Given the description of an element on the screen output the (x, y) to click on. 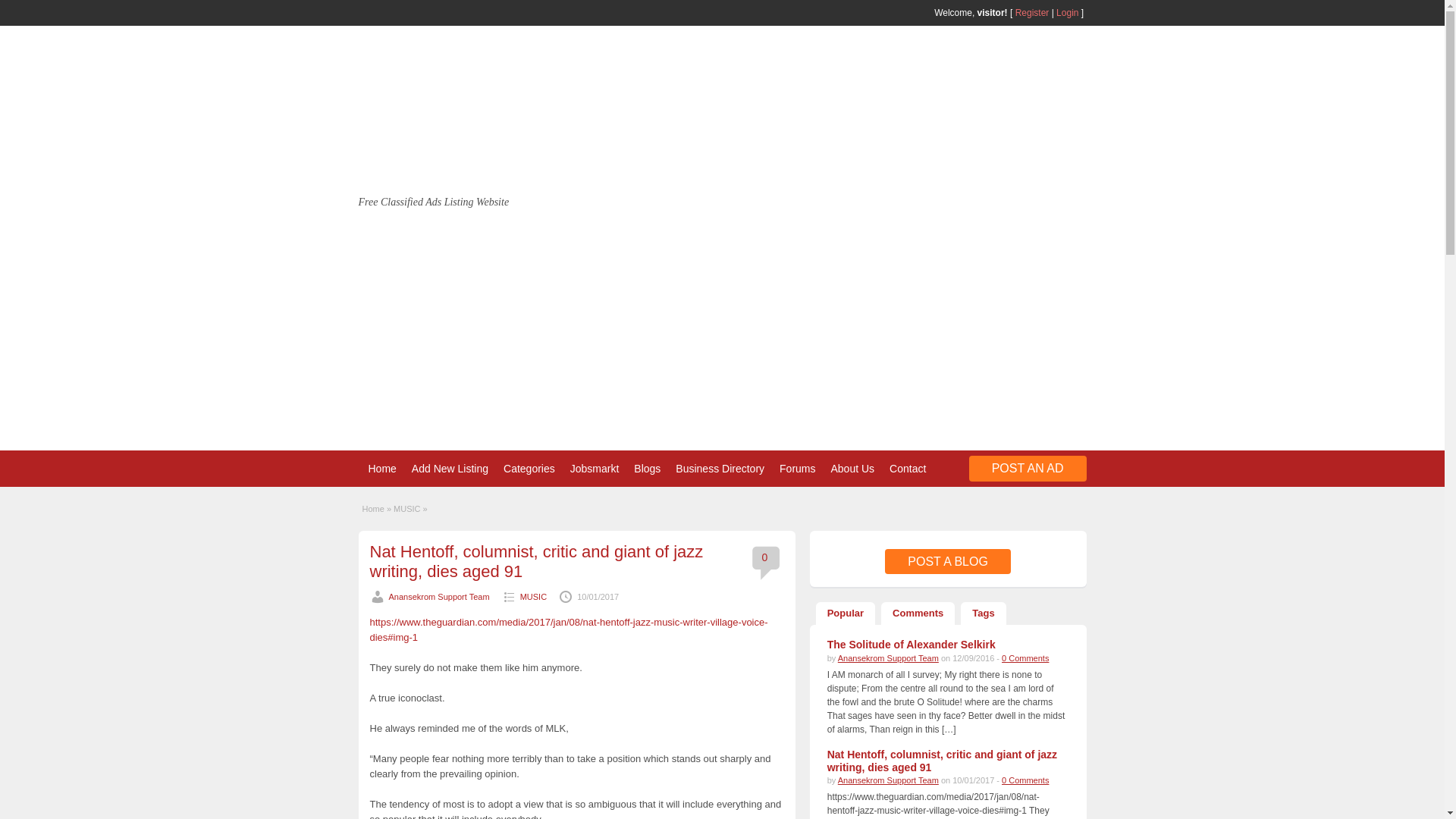
Add New Listing (450, 468)
Categories (528, 468)
Home (382, 468)
Anansekrom Instagram (369, 11)
Register (1031, 12)
Add New Listing (450, 468)
Home (382, 468)
Anansekrom twitter (408, 11)
Login (1067, 12)
Anansekrom facebook (390, 11)
Anansekrom Free Classified Ads Listing (436, 188)
Categories (528, 468)
